Given the description of an element on the screen output the (x, y) to click on. 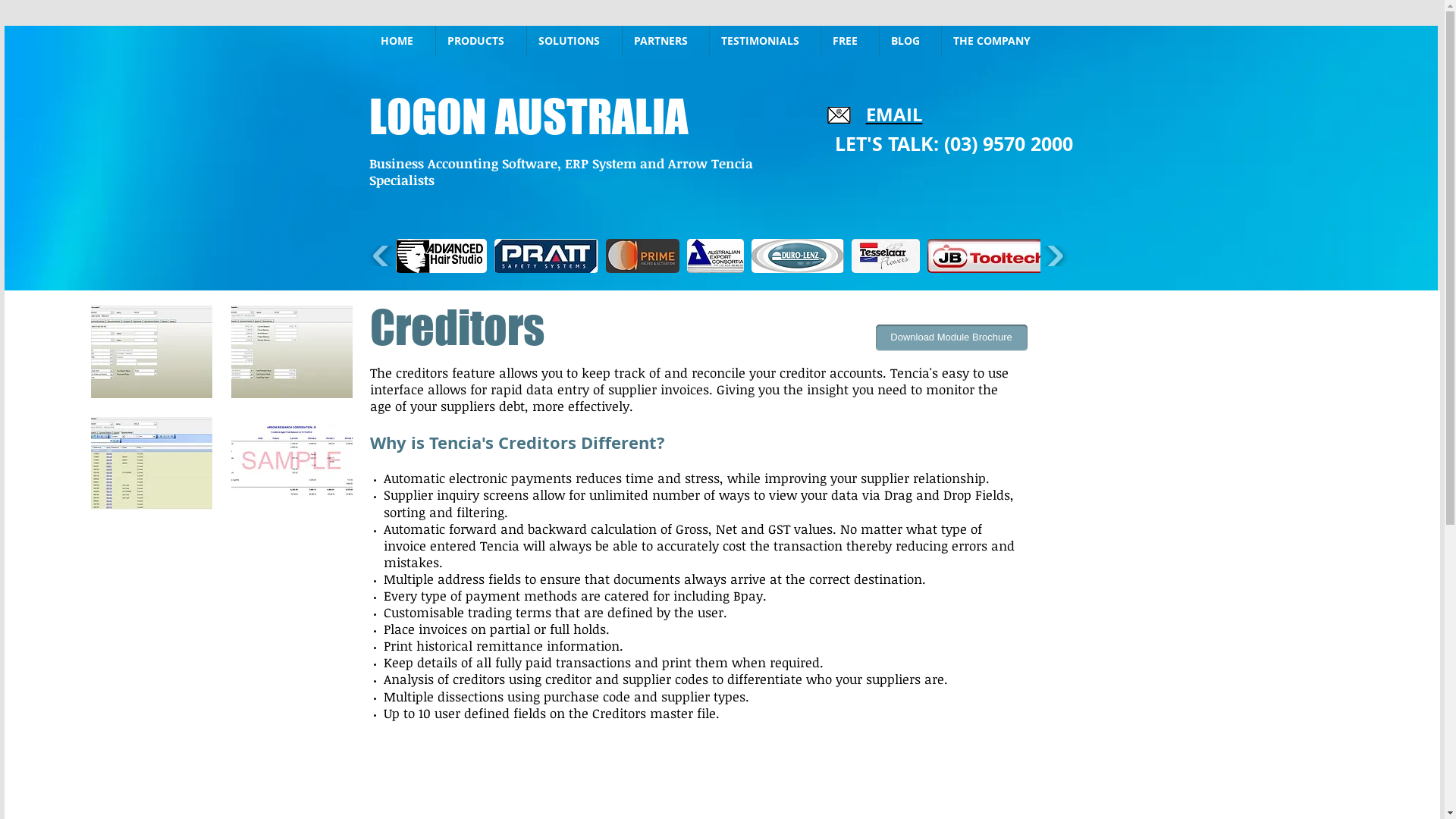
PARTNERS Element type: text (664, 40)
THE COMPANY Element type: text (996, 40)
FREE Element type: text (849, 40)
BLOG Element type: text (910, 40)
Site Search Element type: hover (1131, 40)
HOME Element type: text (401, 40)
Accounting Business Software Element type: hover (720, 164)
PRODUCTS Element type: text (480, 40)
SOLUTIONS Element type: text (573, 40)
EMAIL Element type: text (894, 114)
Download Module Brochure Element type: text (950, 337)
TESTIMONIALS Element type: text (764, 40)
